Given the description of an element on the screen output the (x, y) to click on. 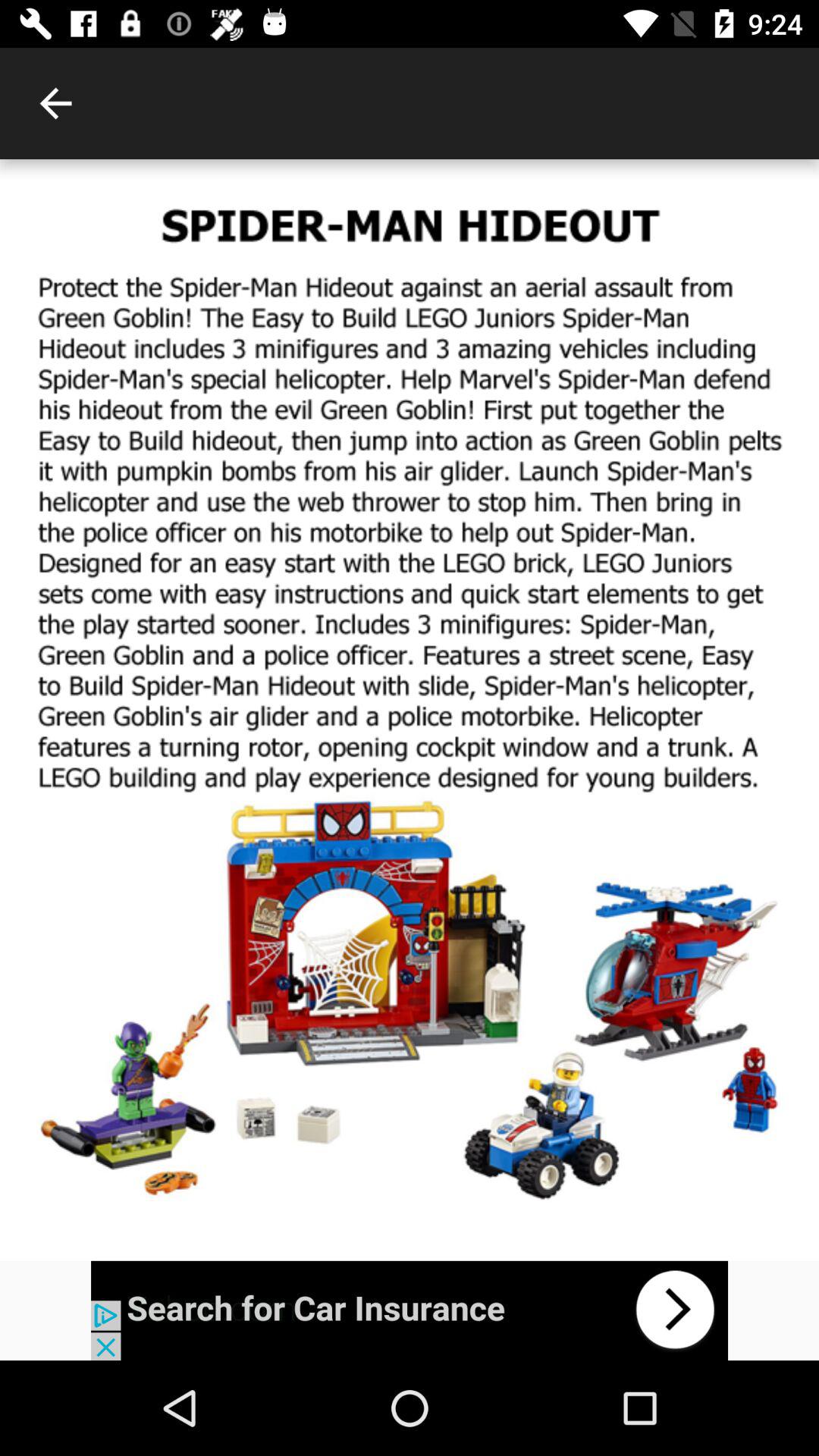
search (409, 1310)
